Given the description of an element on the screen output the (x, y) to click on. 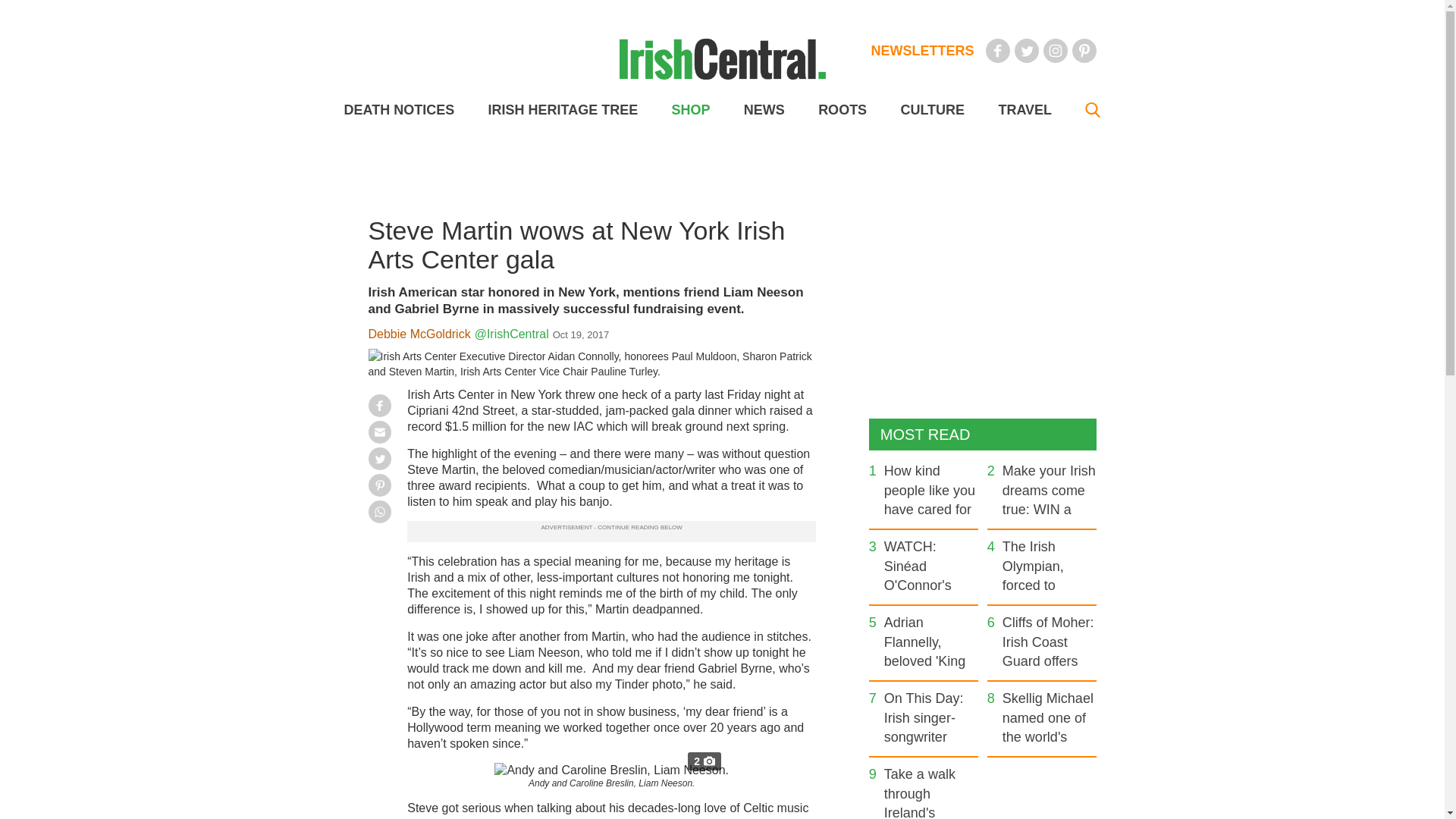
TRAVEL (1024, 109)
IRISH HERITAGE TREE (562, 109)
CULTURE (931, 109)
NEWSLETTERS (922, 50)
DEATH NOTICES (398, 109)
ROOTS (842, 109)
SHOP (690, 109)
NEWS (764, 109)
